Given the description of an element on the screen output the (x, y) to click on. 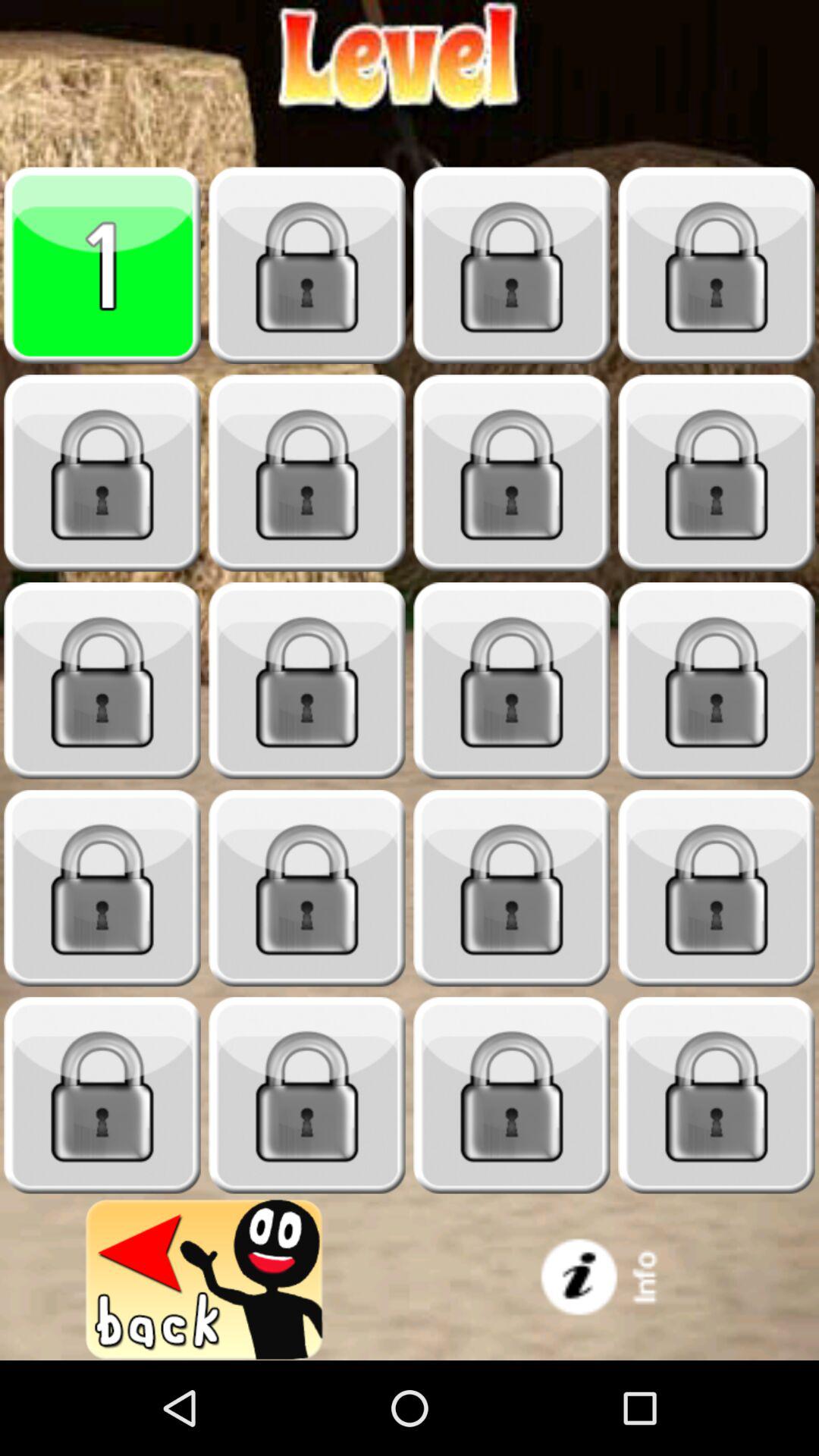
unlock this level (102, 680)
